Given the description of an element on the screen output the (x, y) to click on. 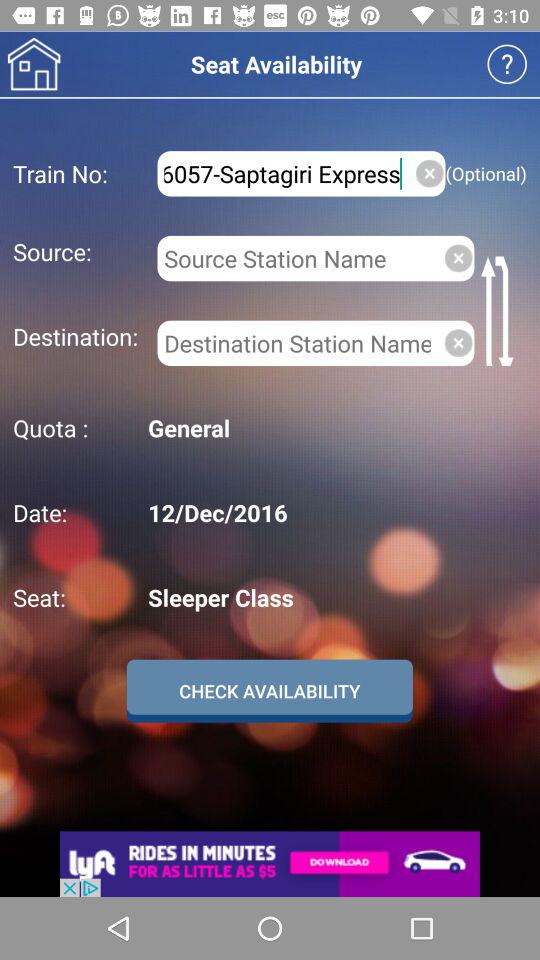
click on the icon which is just below the time (507, 64)
